Given the description of an element on the screen output the (x, y) to click on. 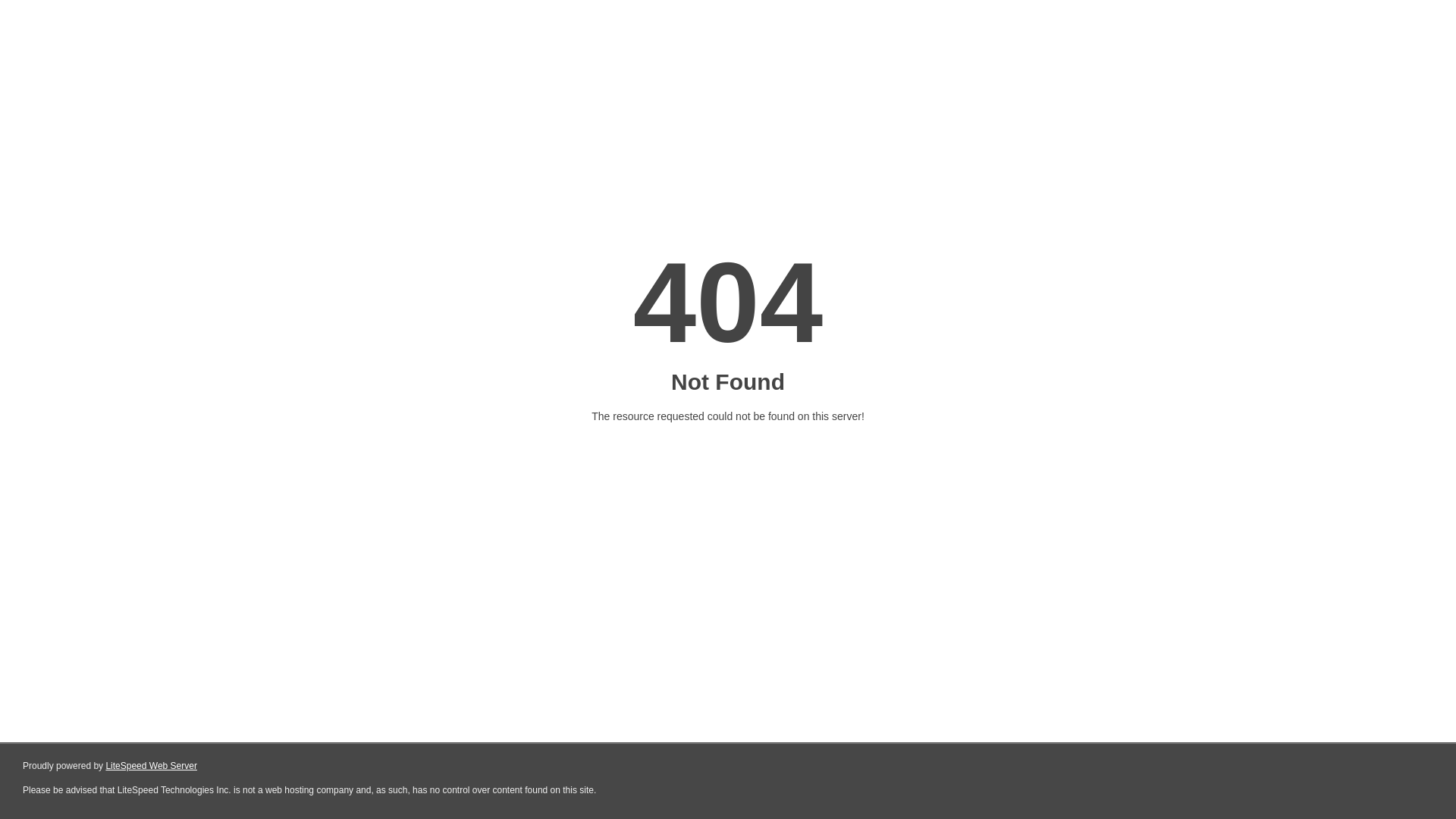
LiteSpeed Web Server Element type: text (151, 765)
